Given the description of an element on the screen output the (x, y) to click on. 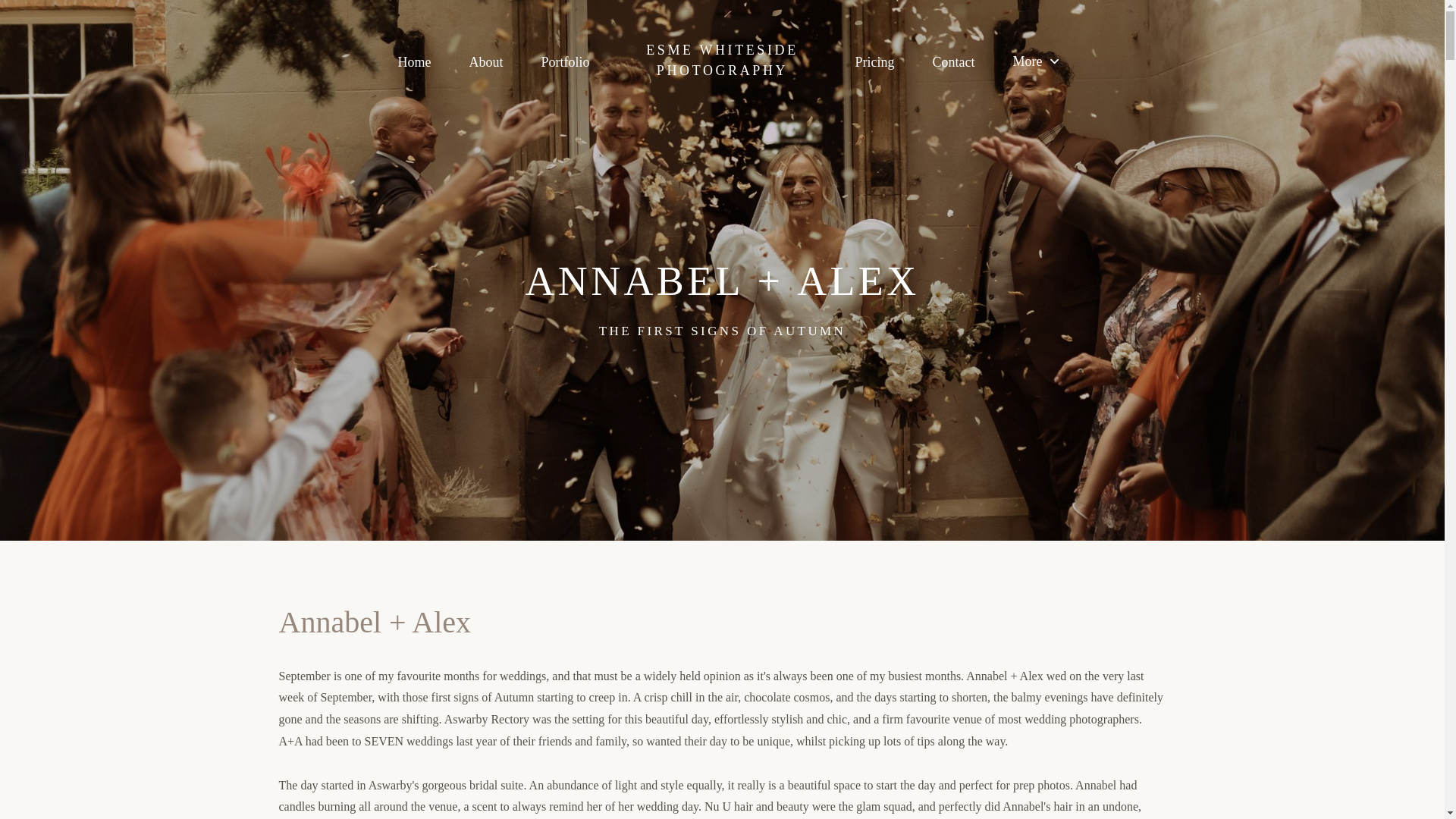
Portfolio (564, 61)
About (485, 61)
More (1034, 60)
Home (413, 61)
Pricing (873, 61)
Contact (952, 61)
ESME WHITESIDE PHOTOGRAPHY (722, 60)
